Given the description of an element on the screen output the (x, y) to click on. 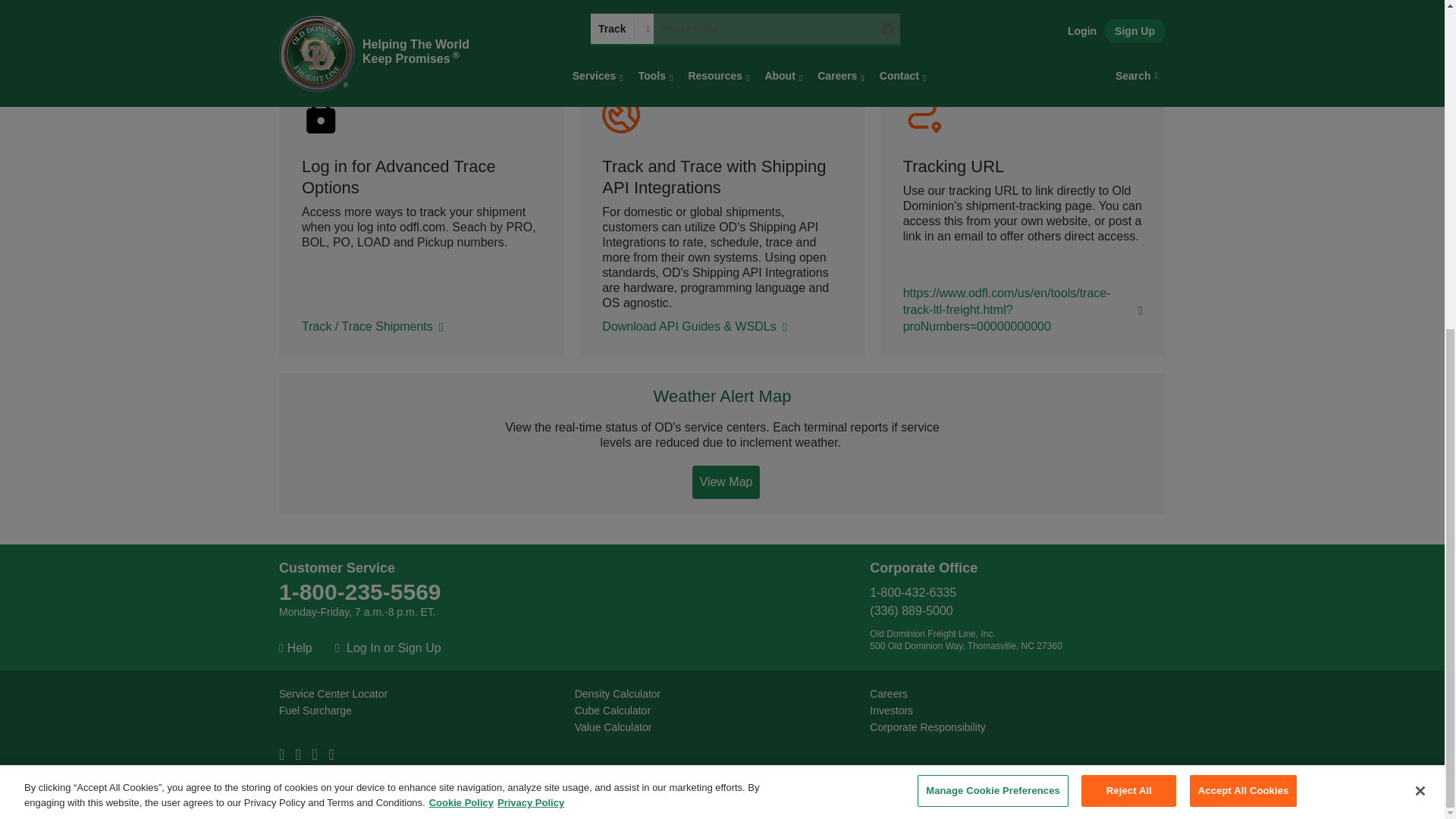
Help (296, 648)
Instagram (334, 755)
SignIn (365, 647)
Facebook (285, 755)
SignUp (419, 647)
LinkedIn (318, 755)
Twitter (301, 755)
